Given the description of an element on the screen output the (x, y) to click on. 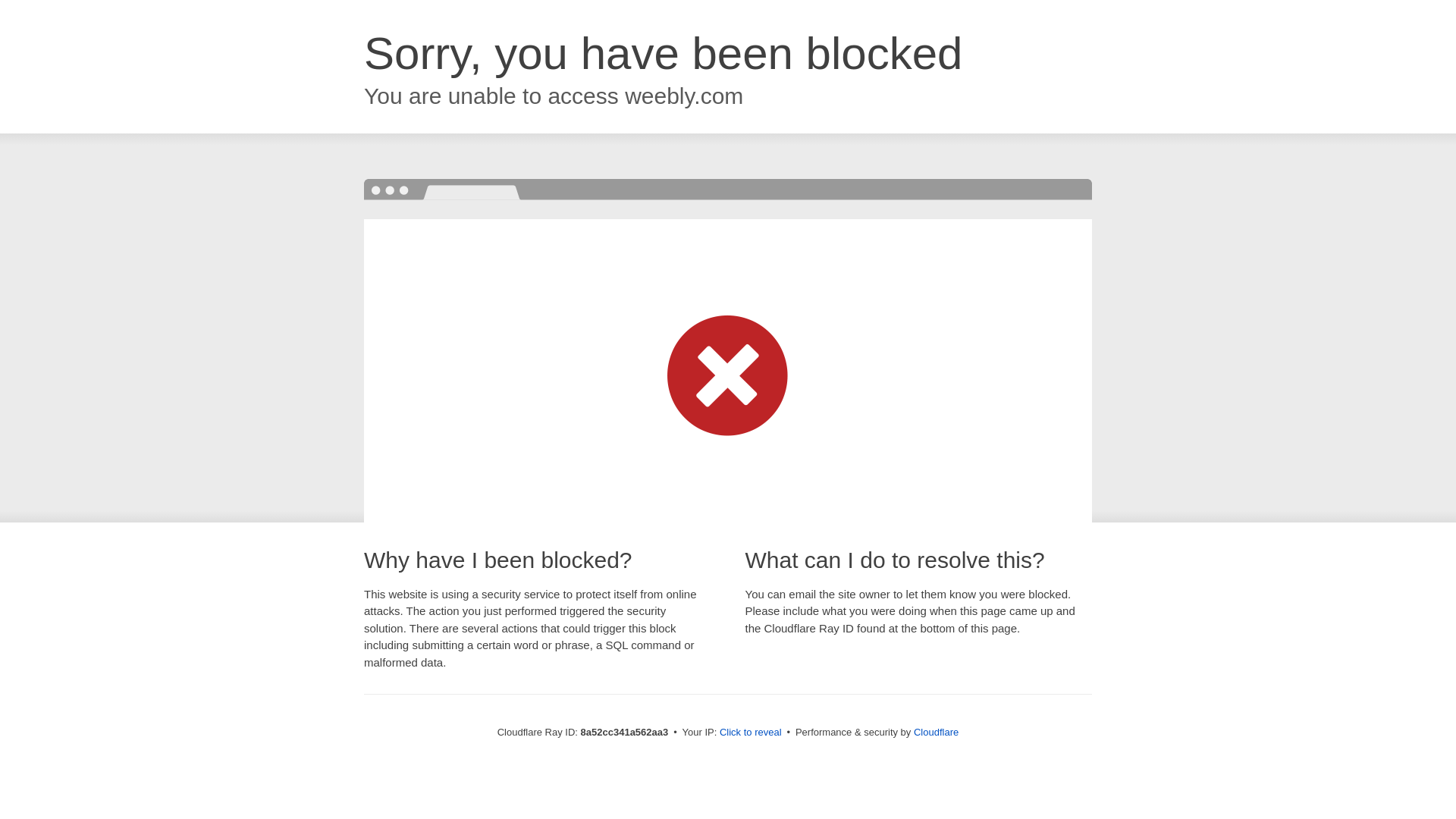
Click to reveal (750, 732)
Cloudflare (936, 731)
